Given the description of an element on the screen output the (x, y) to click on. 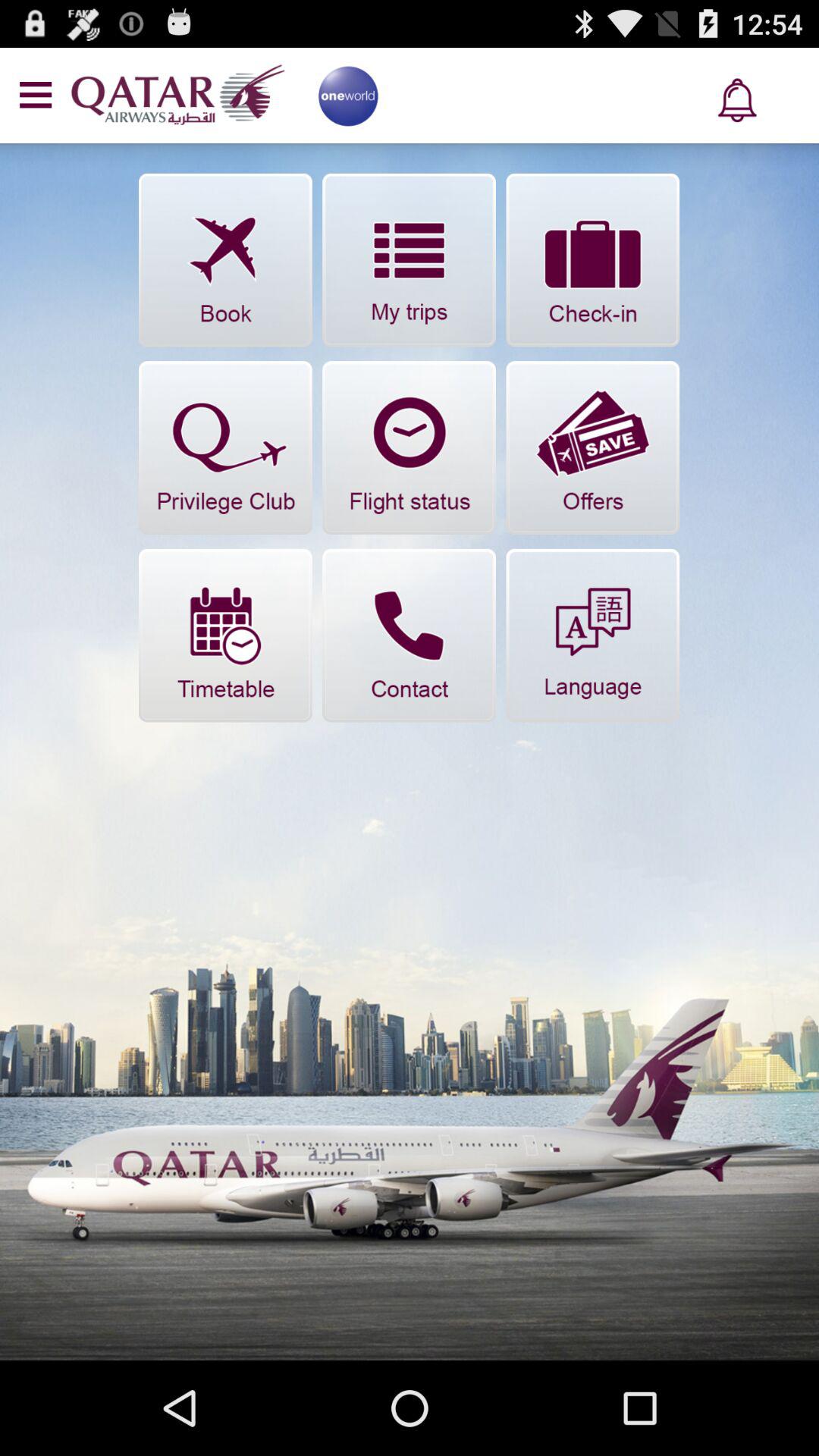
go to privilege club (225, 447)
